Given the description of an element on the screen output the (x, y) to click on. 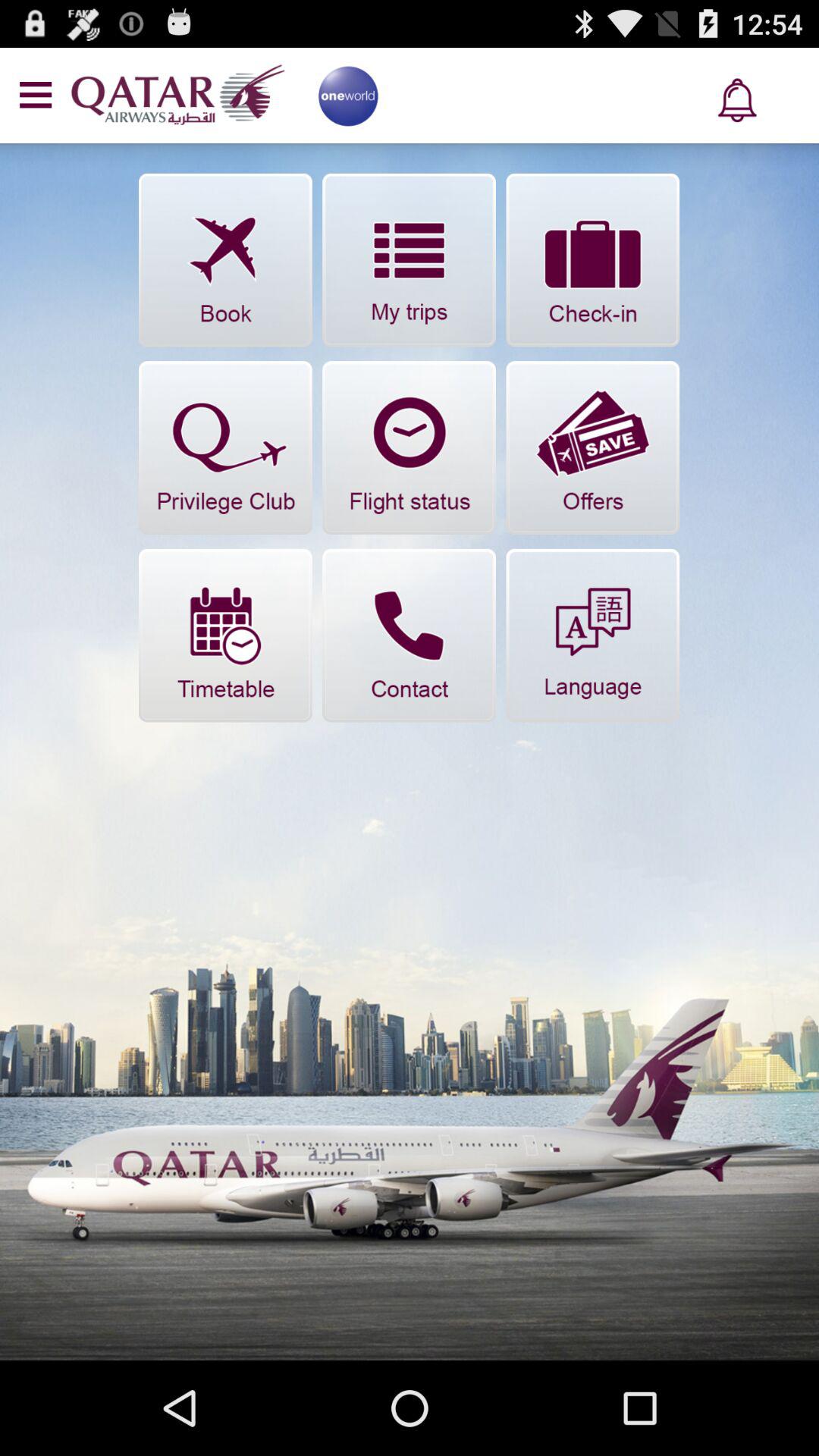
go to privilege club (225, 447)
